Given the description of an element on the screen output the (x, y) to click on. 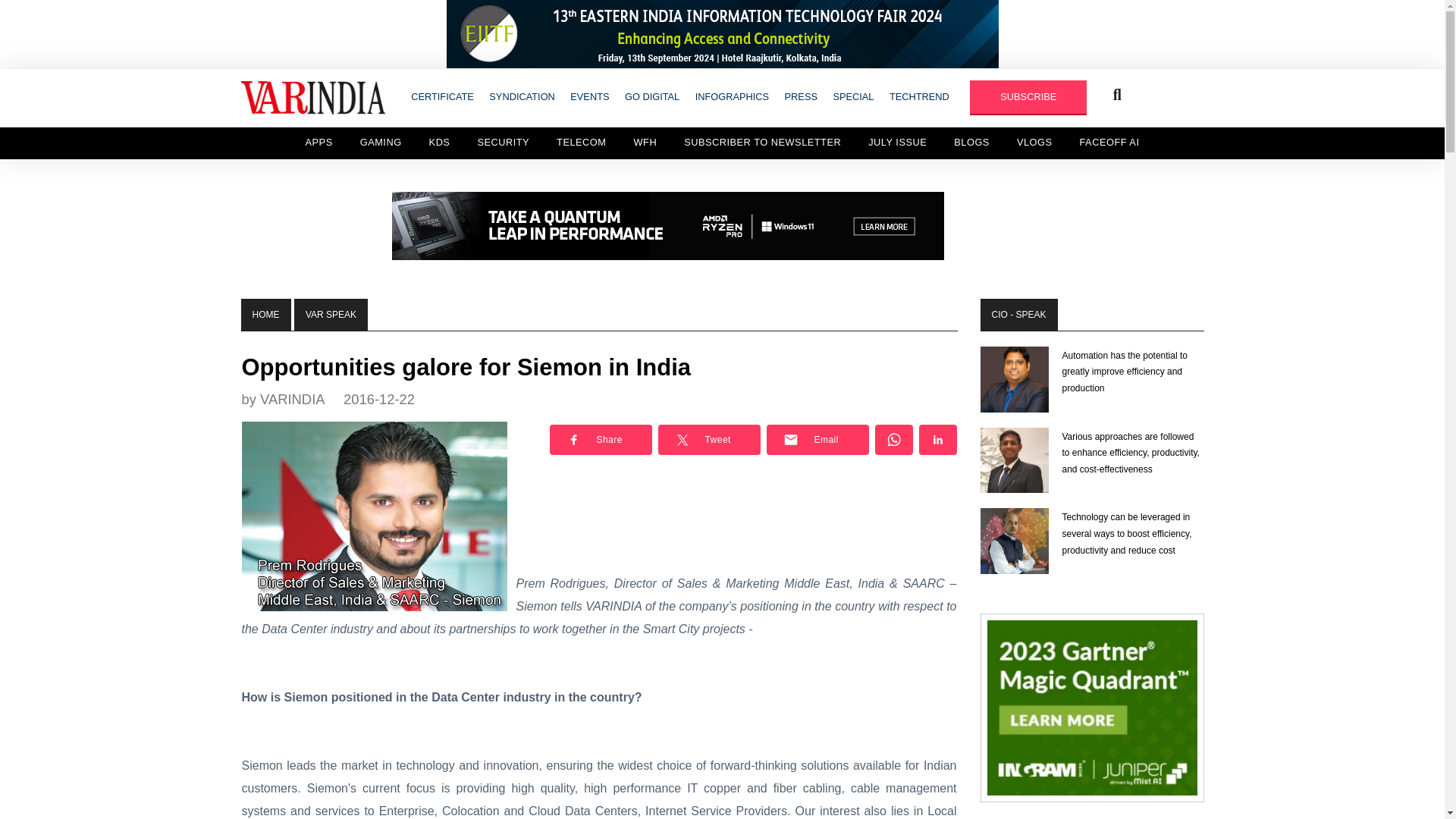
EVENTS (589, 96)
PRESS (801, 96)
TECHTREND (919, 96)
SPECIAL (853, 96)
GO DIGITAL (651, 96)
CERTIFICATE (442, 96)
INFOGRAPHICS (731, 96)
